Given the description of an element on the screen output the (x, y) to click on. 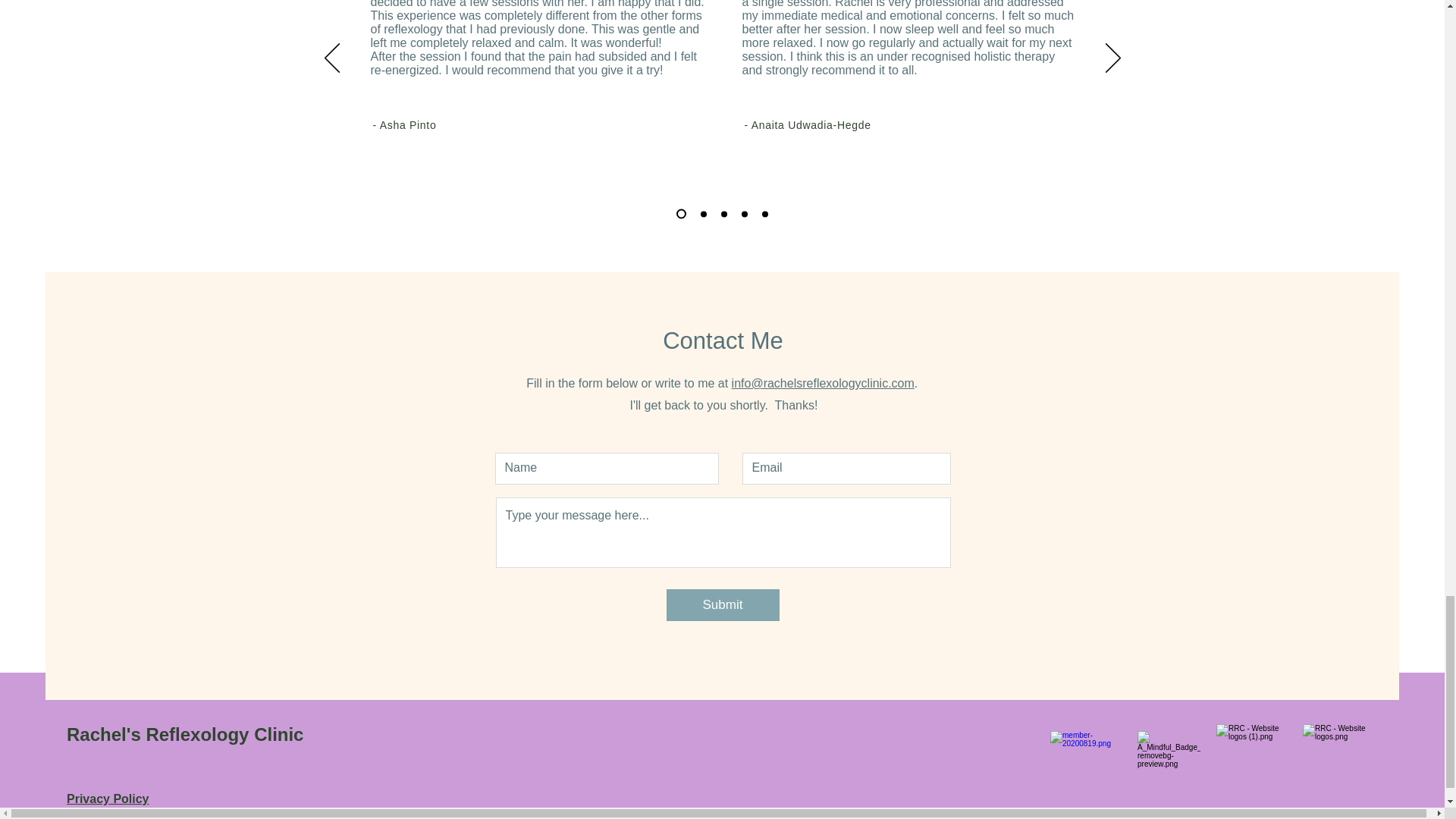
Submit (721, 604)
Privacy Policy (107, 798)
Rachel's Reflexology Clinic (184, 733)
